Given the description of an element on the screen output the (x, y) to click on. 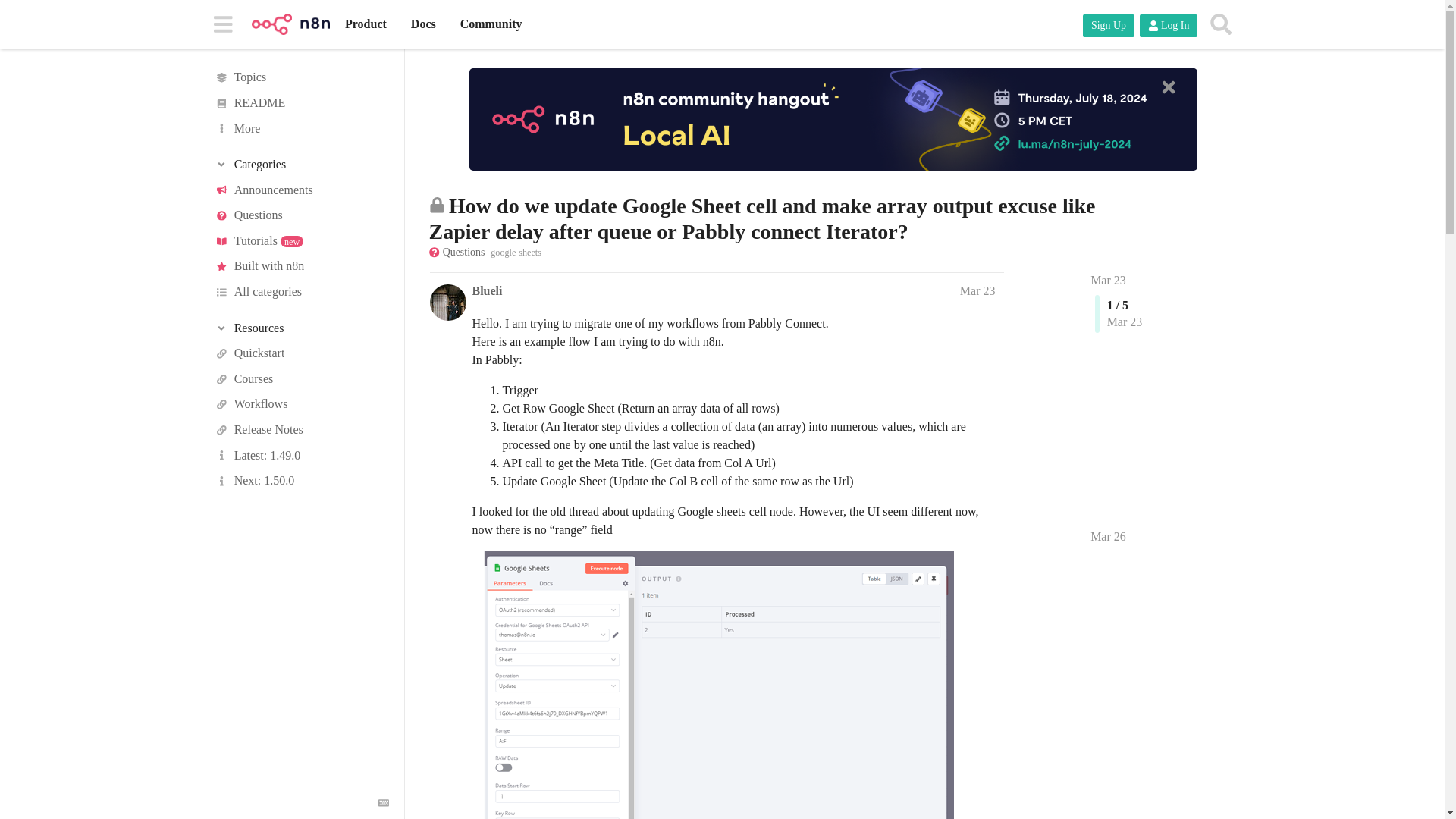
Mar 26 (1107, 536)
Community (491, 24)
Sign Up (1108, 25)
All topics (301, 77)
Release Notes (301, 429)
Workflows (301, 404)
Built with n8n (301, 266)
Quickstart (301, 353)
Announcements (301, 190)
google-sheets (515, 251)
Search (1220, 23)
Questions (301, 216)
Product (366, 24)
Topics (301, 77)
Next: 1.50.0 (301, 481)
